Given the description of an element on the screen output the (x, y) to click on. 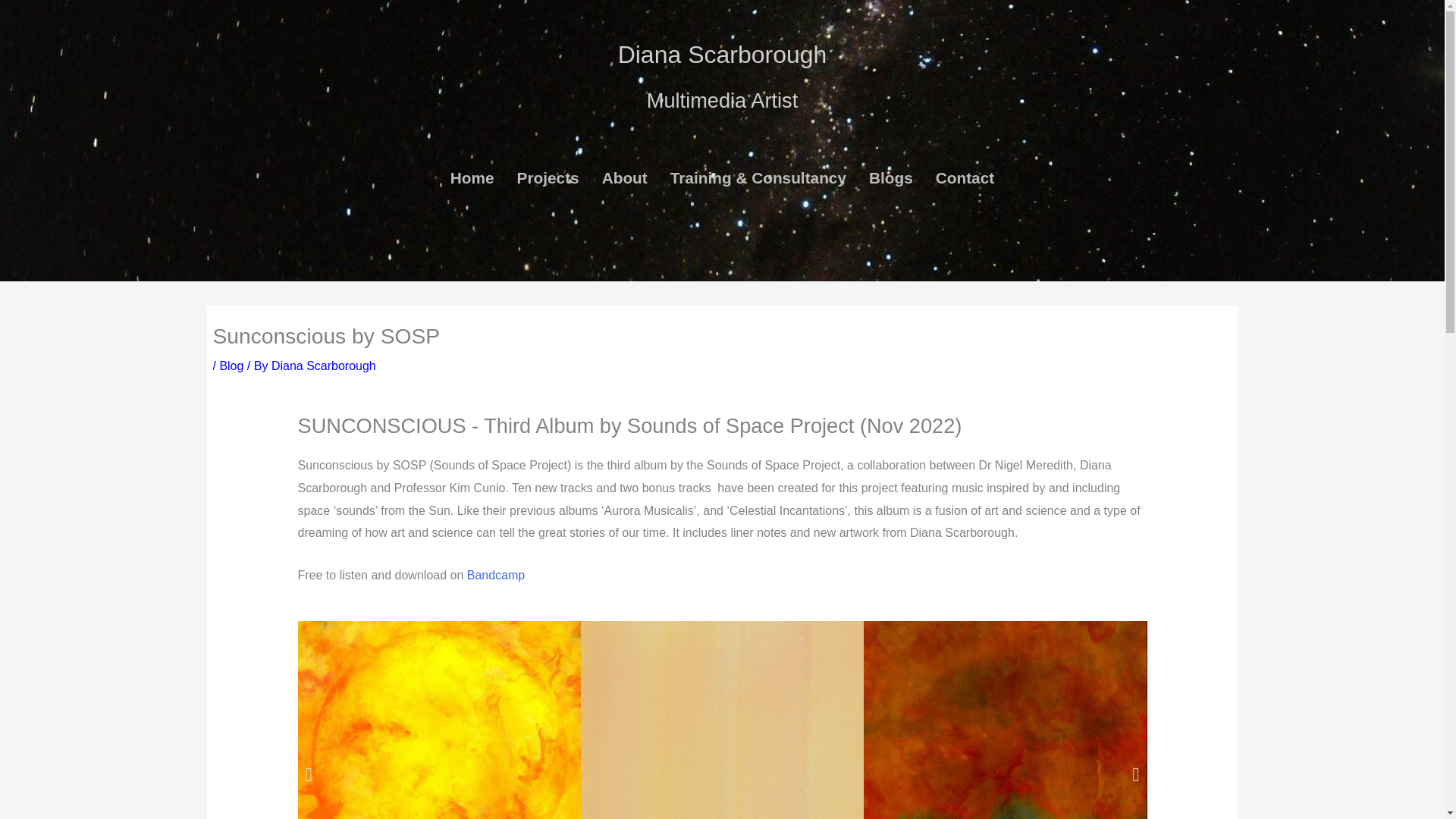
Projects (548, 178)
Diana Scarborough (322, 365)
Home (472, 178)
Blogs (890, 178)
Blog (231, 365)
About (625, 178)
Bandcamp (496, 574)
Contact (965, 178)
View all posts by Diana Scarborough (322, 365)
